Given the description of an element on the screen output the (x, y) to click on. 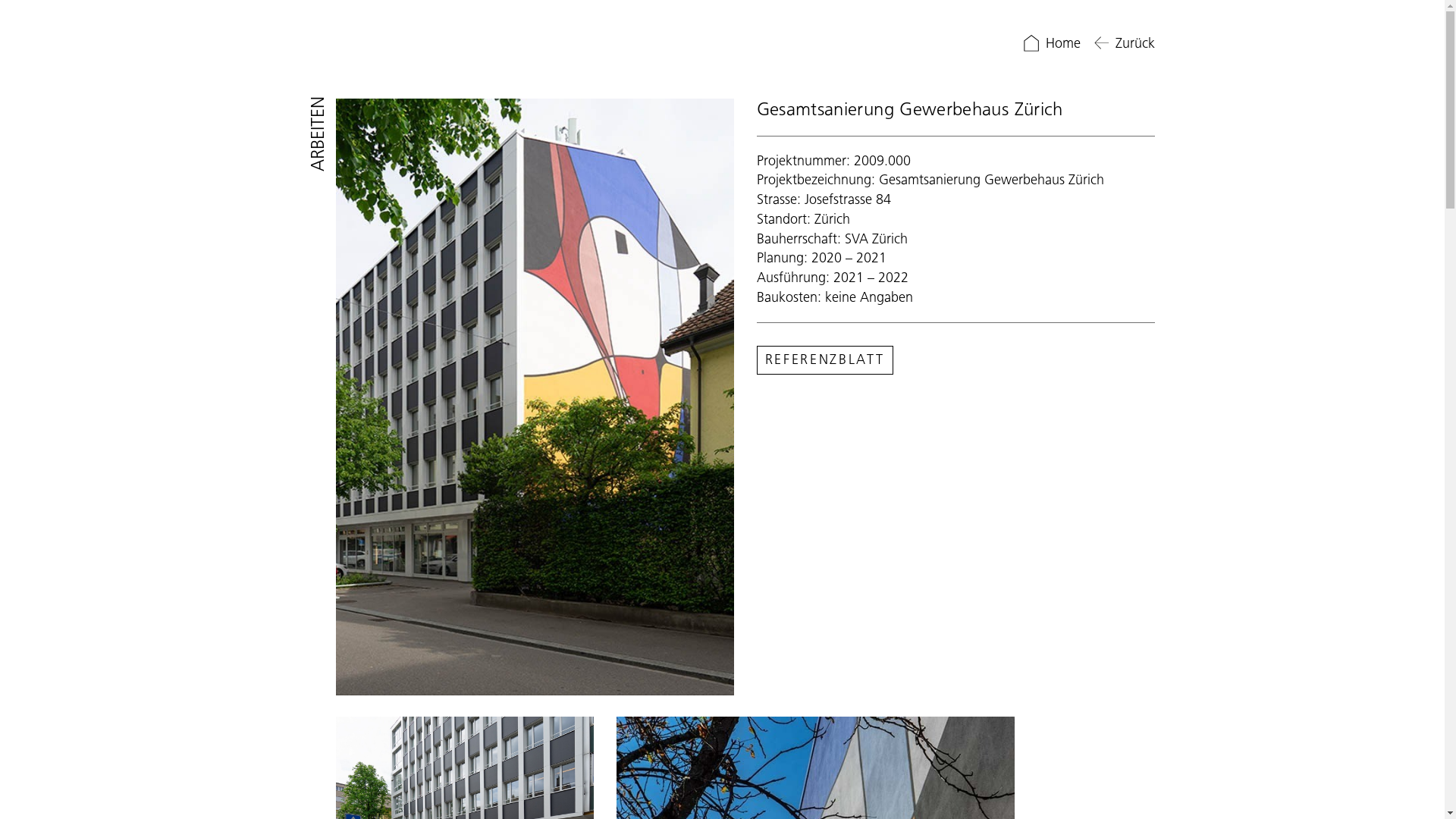
2009 000 bkg architekten web Element type: hover (534, 397)
Home Element type: text (1049, 42)
2009.PDF Element type: text (824, 359)
